Given the description of an element on the screen output the (x, y) to click on. 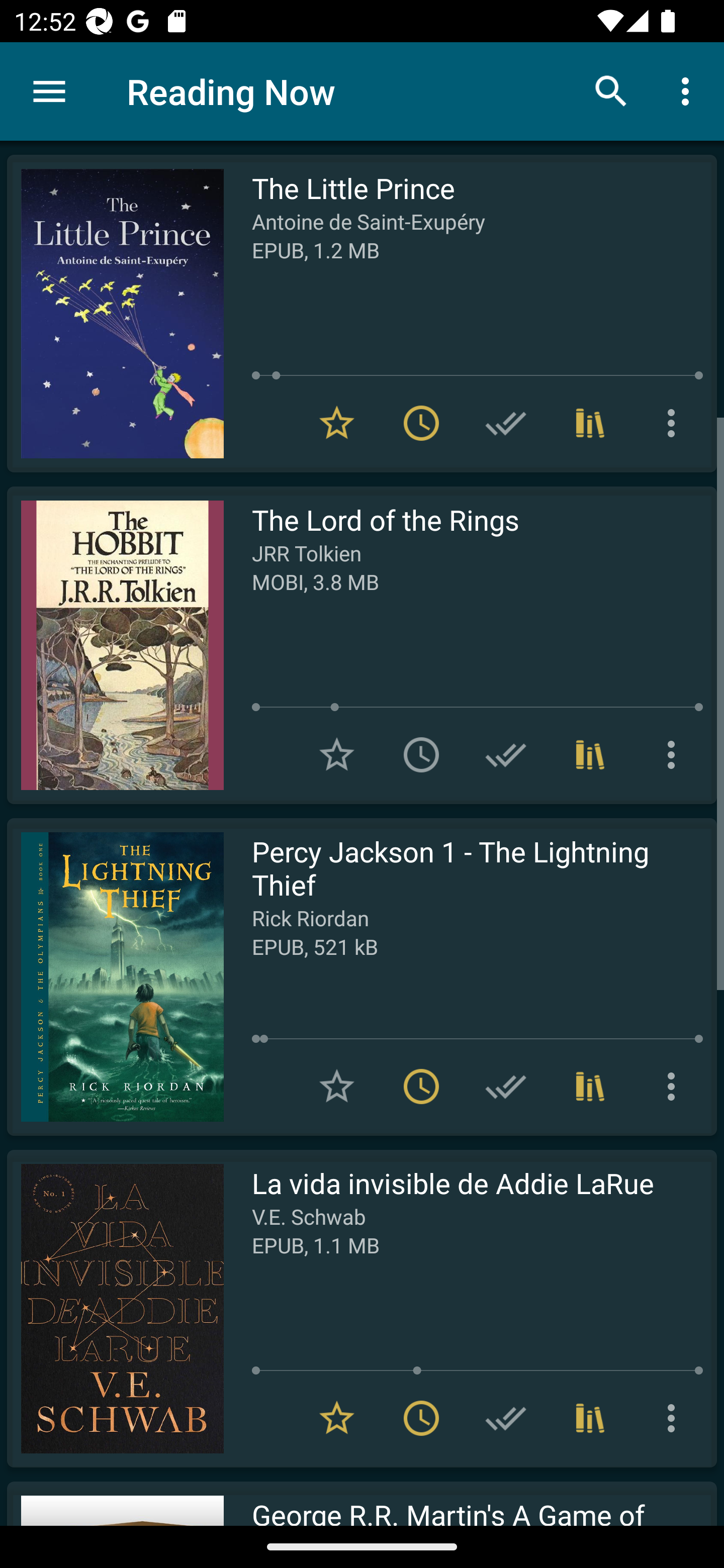
Menu (49, 91)
Search books & documents (611, 90)
More options (688, 90)
Read The Little Prince (115, 313)
Remove from Favorites (336, 423)
Remove from To read (421, 423)
Add to Have read (505, 423)
Collections (1) (590, 423)
More options (674, 423)
Read The Lord of the Rings (115, 645)
Add to Favorites (336, 753)
Add to To read (421, 753)
Add to Have read (505, 753)
Collections (1) (590, 753)
More options (674, 753)
Read Percy Jackson 1 - The Lightning Thief (115, 976)
Add to Favorites (336, 1086)
Remove from To read (421, 1086)
Add to Have read (505, 1086)
Collections (1) (590, 1086)
More options (674, 1086)
Read La vida invisible de Addie LaRue (115, 1308)
Remove from Favorites (336, 1417)
Remove from To read (421, 1417)
Add to Have read (505, 1417)
Collections (1) (590, 1417)
More options (674, 1417)
